Given the description of an element on the screen output the (x, y) to click on. 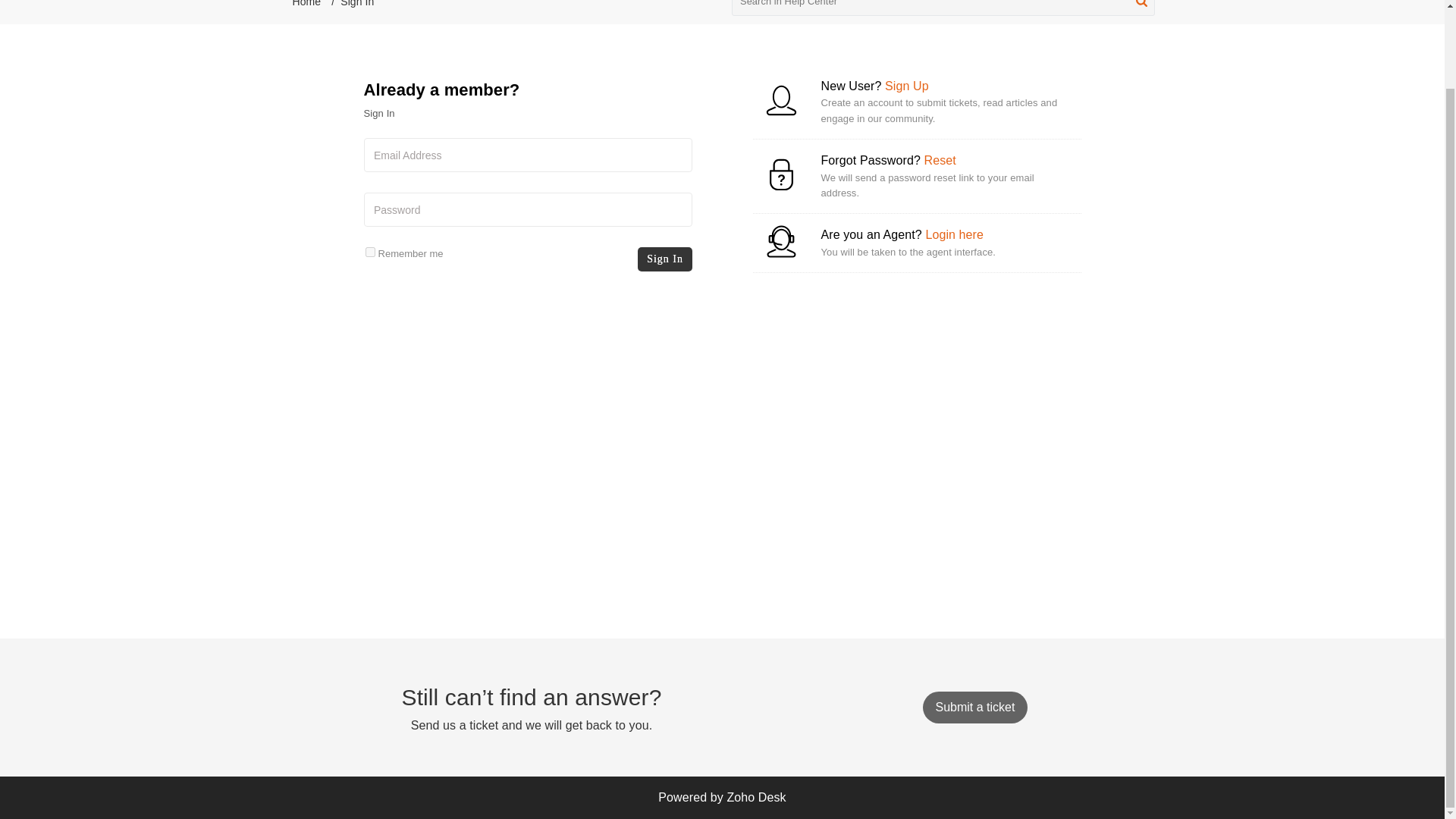
Login here (954, 234)
Zoho Desk (756, 797)
Home (306, 3)
Submit a ticket (974, 707)
Sign Up (906, 85)
Submit a ticket (974, 707)
Reset (939, 160)
